Given the description of an element on the screen output the (x, y) to click on. 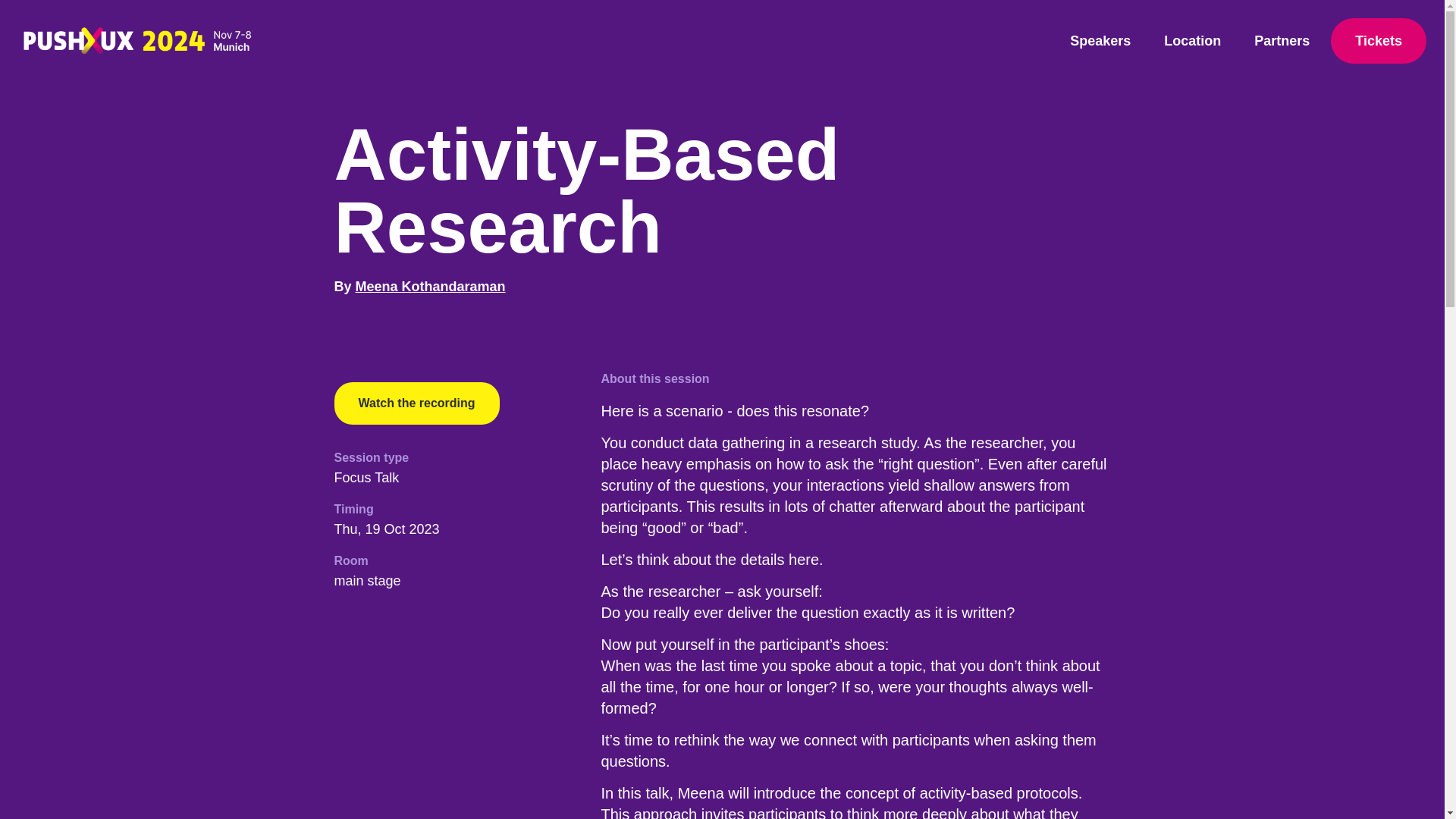
Watch the recording (416, 403)
Location (1192, 40)
Tickets (1378, 40)
Go to the home page (138, 40)
Partners (1281, 40)
Speakers (1100, 40)
Meena Kothandaraman (430, 286)
